Given the description of an element on the screen output the (x, y) to click on. 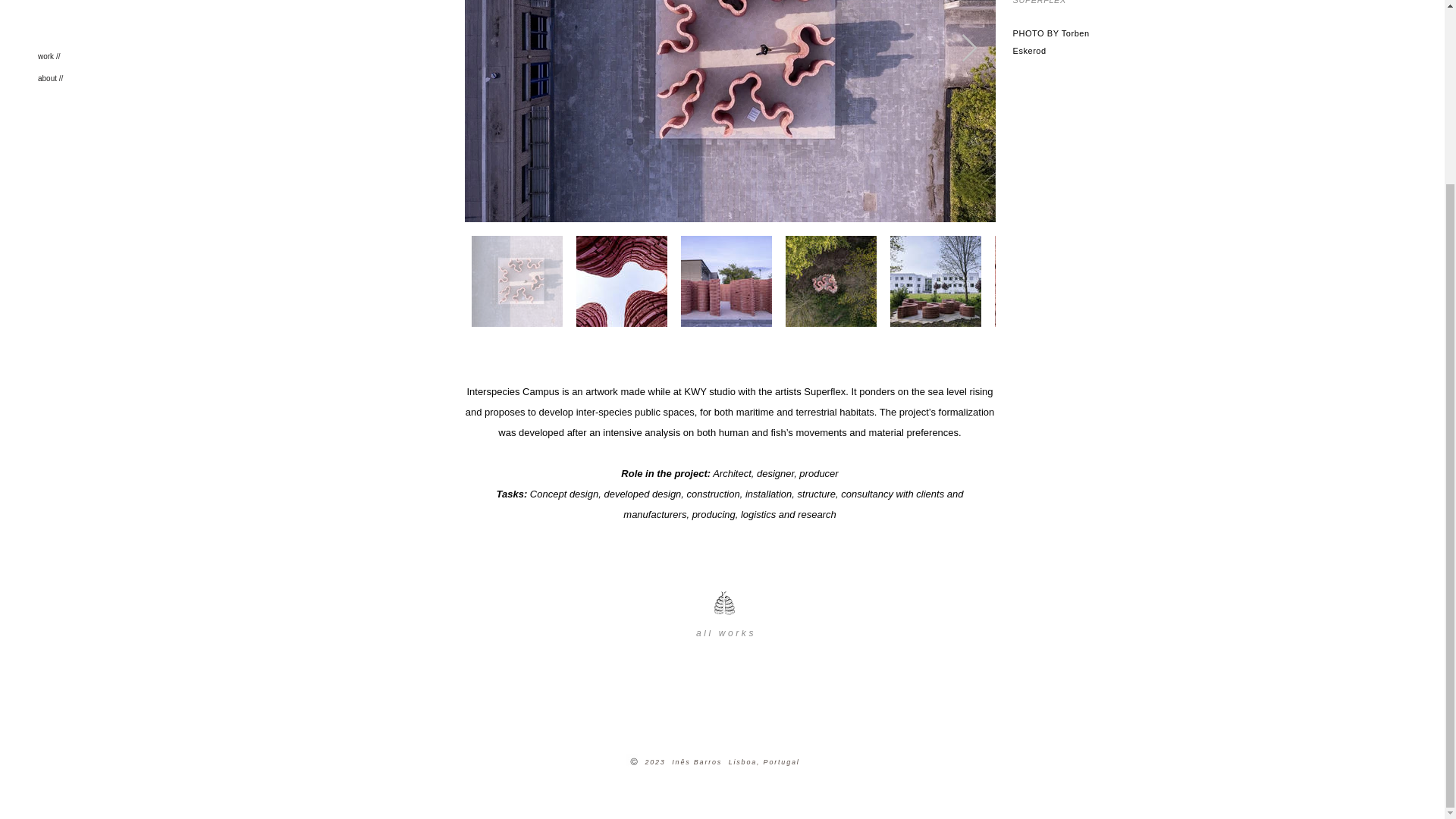
SUPERFLEX (1039, 2)
